Given the description of an element on the screen output the (x, y) to click on. 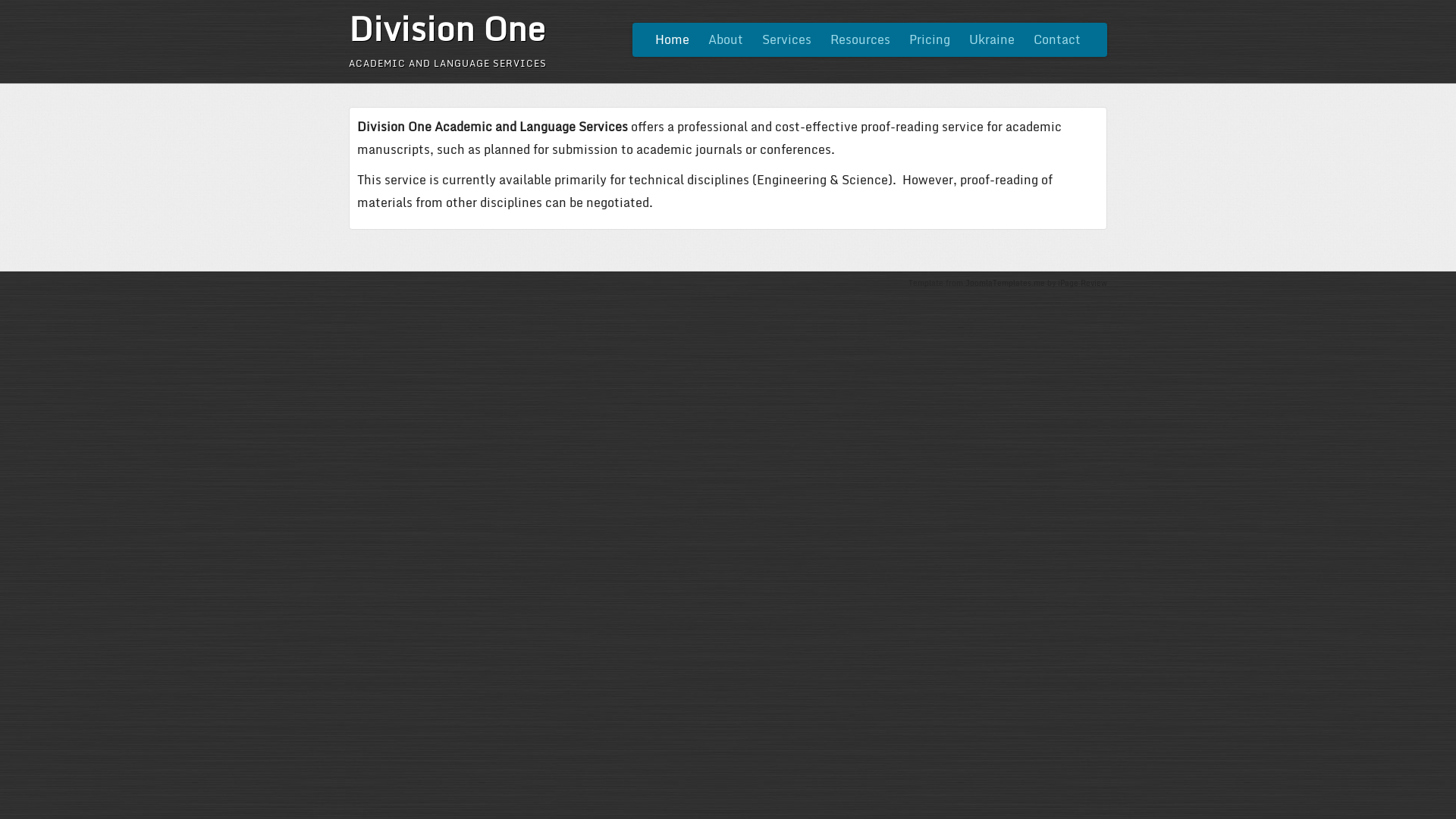
About Element type: text (725, 39)
Contact Element type: text (1057, 39)
Division One Element type: text (446, 27)
JoomlaTemplates.me Element type: text (1004, 282)
Pricing Element type: text (929, 39)
Home Element type: text (671, 39)
Ukraine Element type: text (991, 39)
Services Element type: text (786, 39)
iPage Review Element type: text (1082, 282)
Resources Element type: text (859, 39)
